Given the description of an element on the screen output the (x, y) to click on. 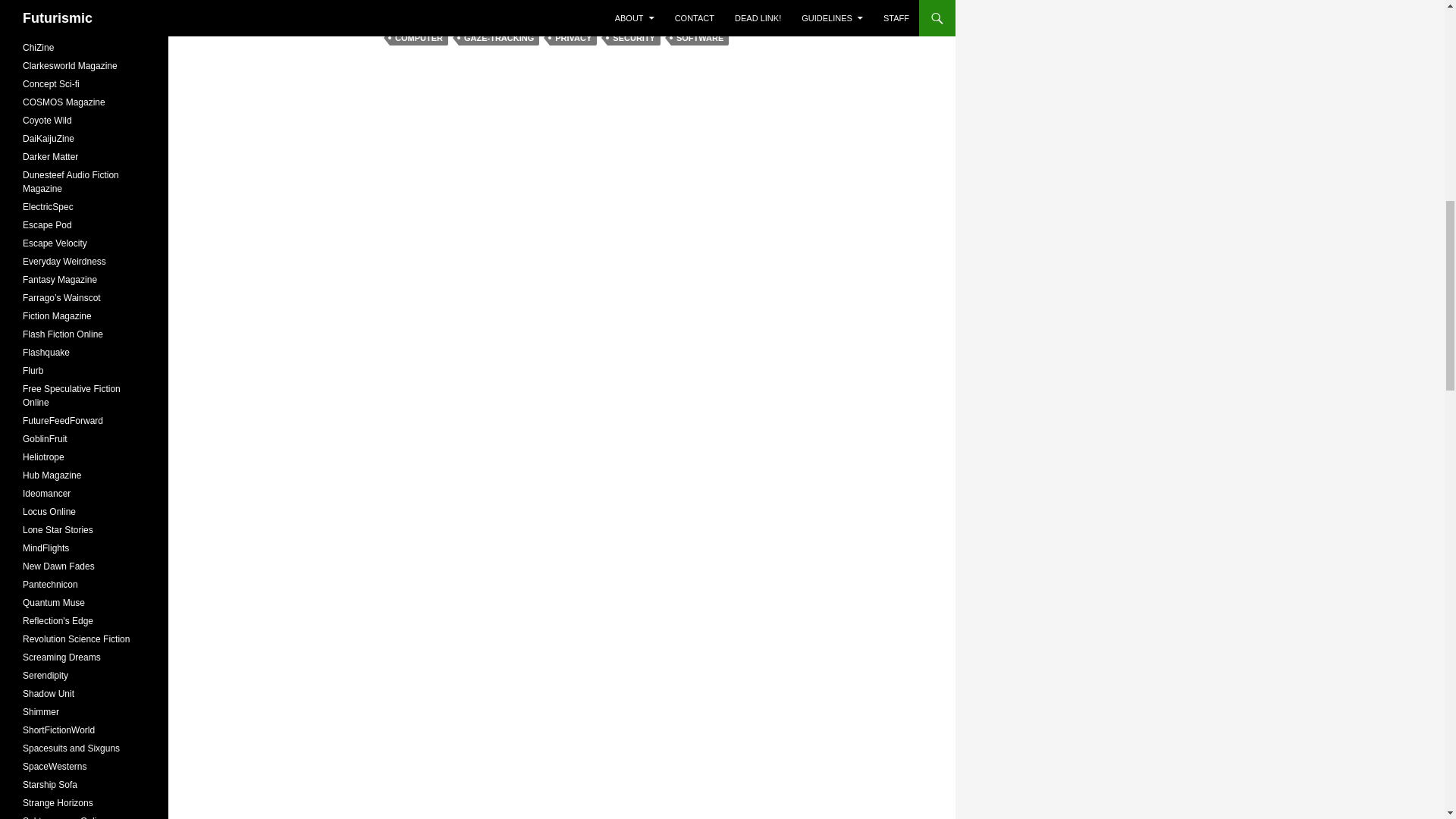
SECURITY (634, 37)
COMPUTER (419, 37)
GAZE-TRACKING (498, 37)
PRIVACY (573, 37)
SOFTWARE (700, 37)
